Given the description of an element on the screen output the (x, y) to click on. 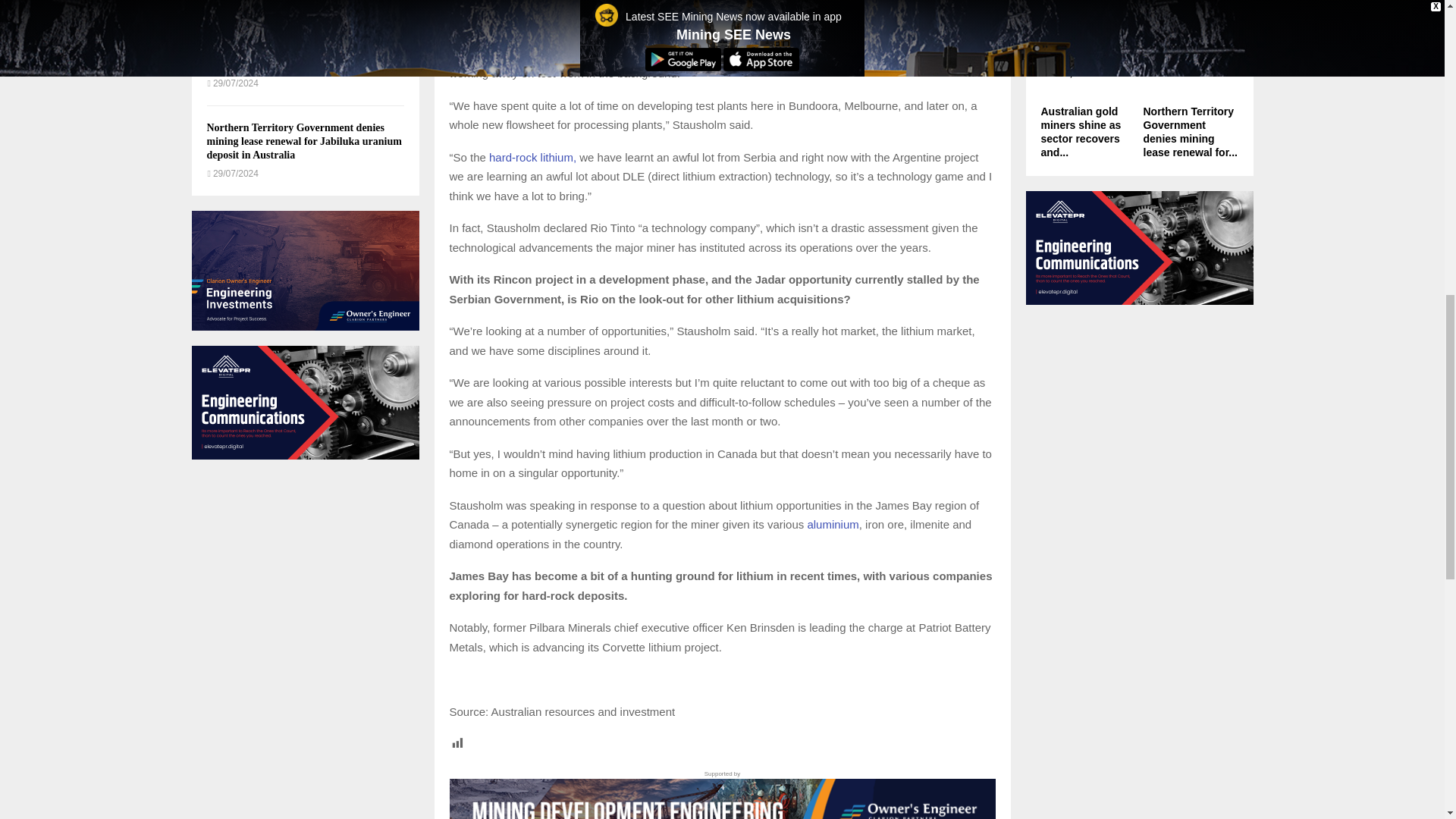
Supported by (721, 794)
aluminium (832, 523)
hard-rock lithium, (532, 156)
